Given the description of an element on the screen output the (x, y) to click on. 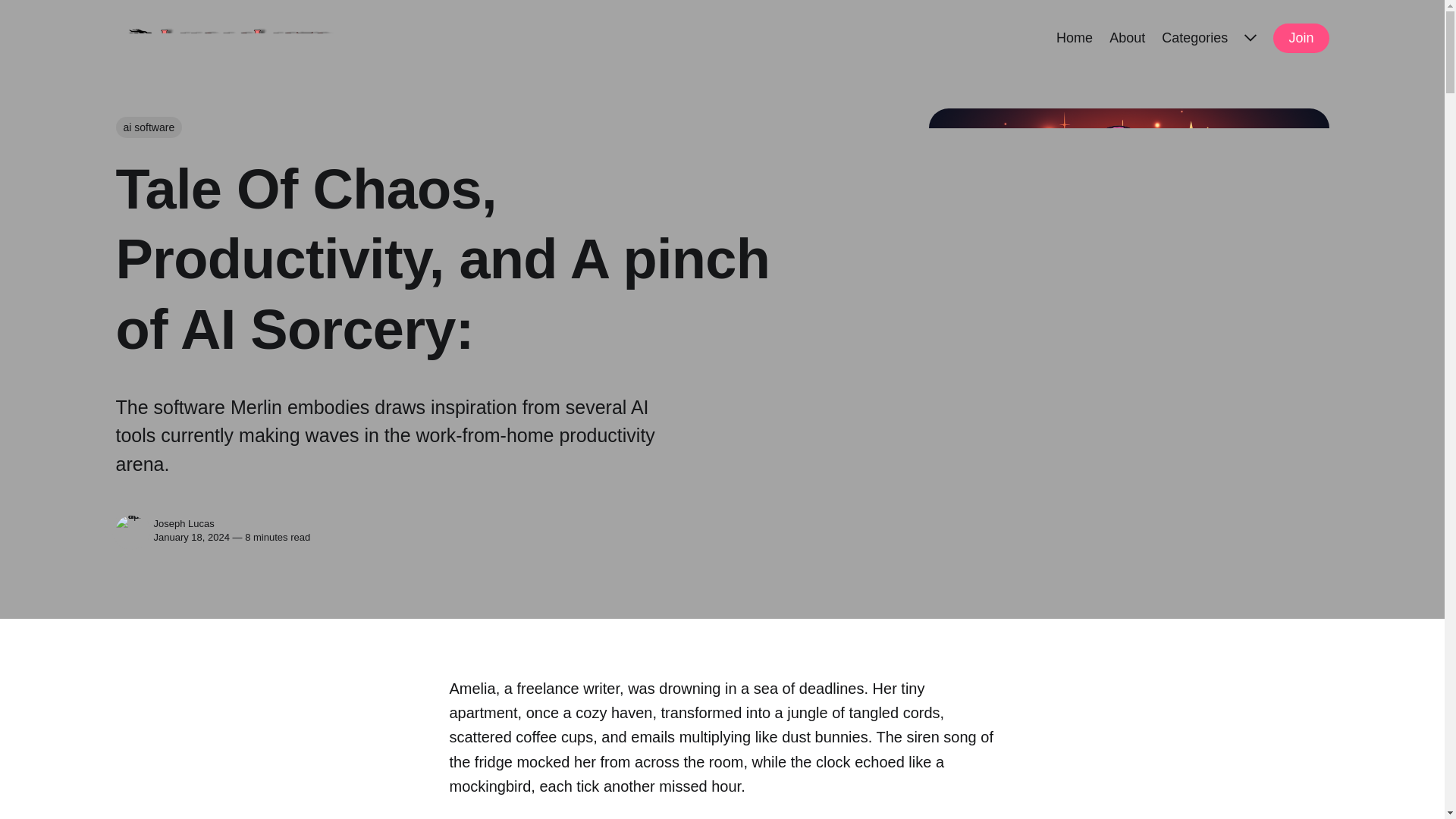
Join (1299, 37)
Home (1075, 37)
Joseph Lucas (183, 523)
About (1126, 37)
ai software (148, 127)
Categories (1194, 37)
Joseph Lucas (130, 530)
